Given the description of an element on the screen output the (x, y) to click on. 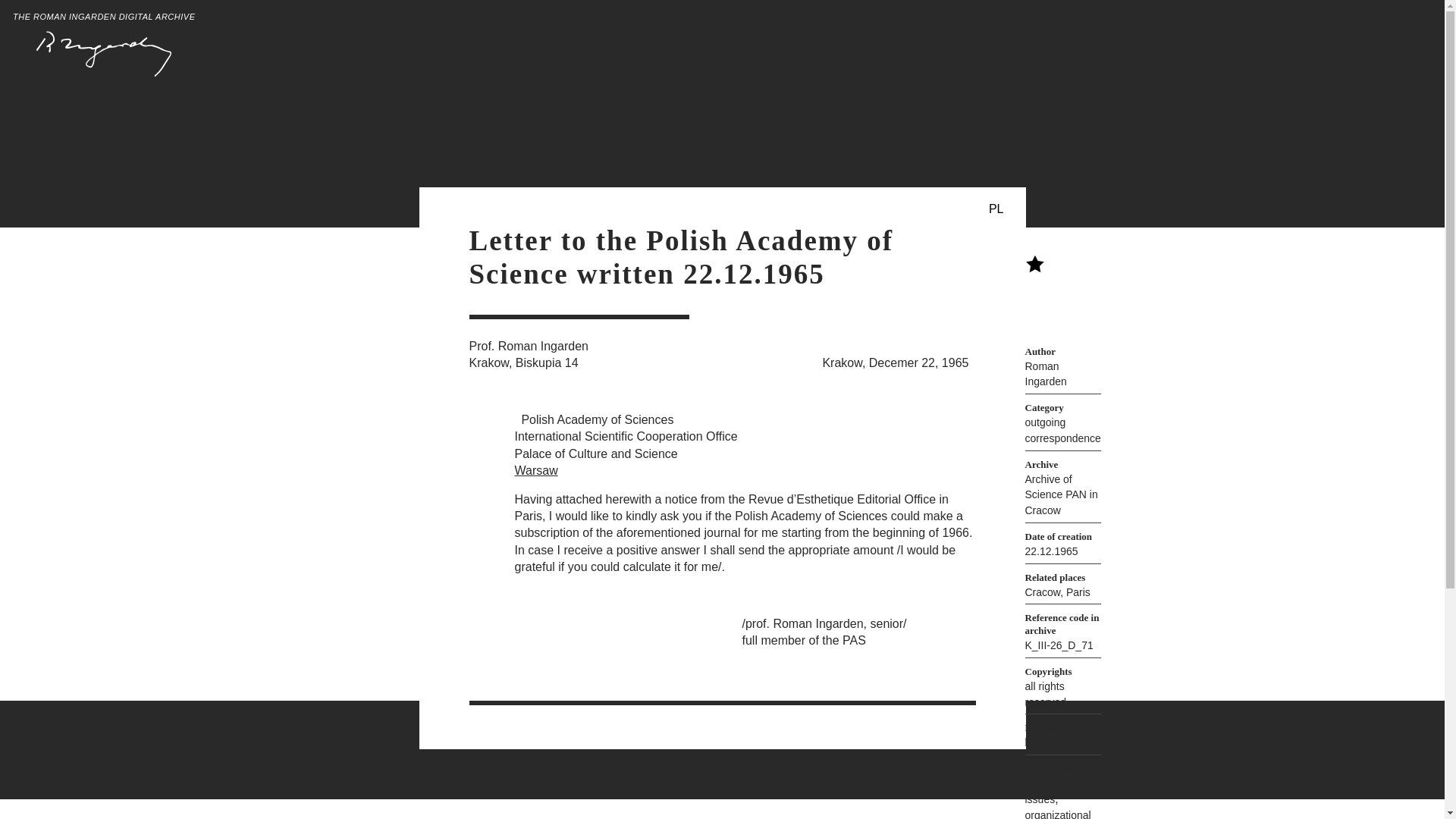
PL (996, 209)
THE ROMAN INGARDEN DIGITAL ARCHIVE (104, 44)
Roman Ingarden (1046, 374)
